Given the description of an element on the screen output the (x, y) to click on. 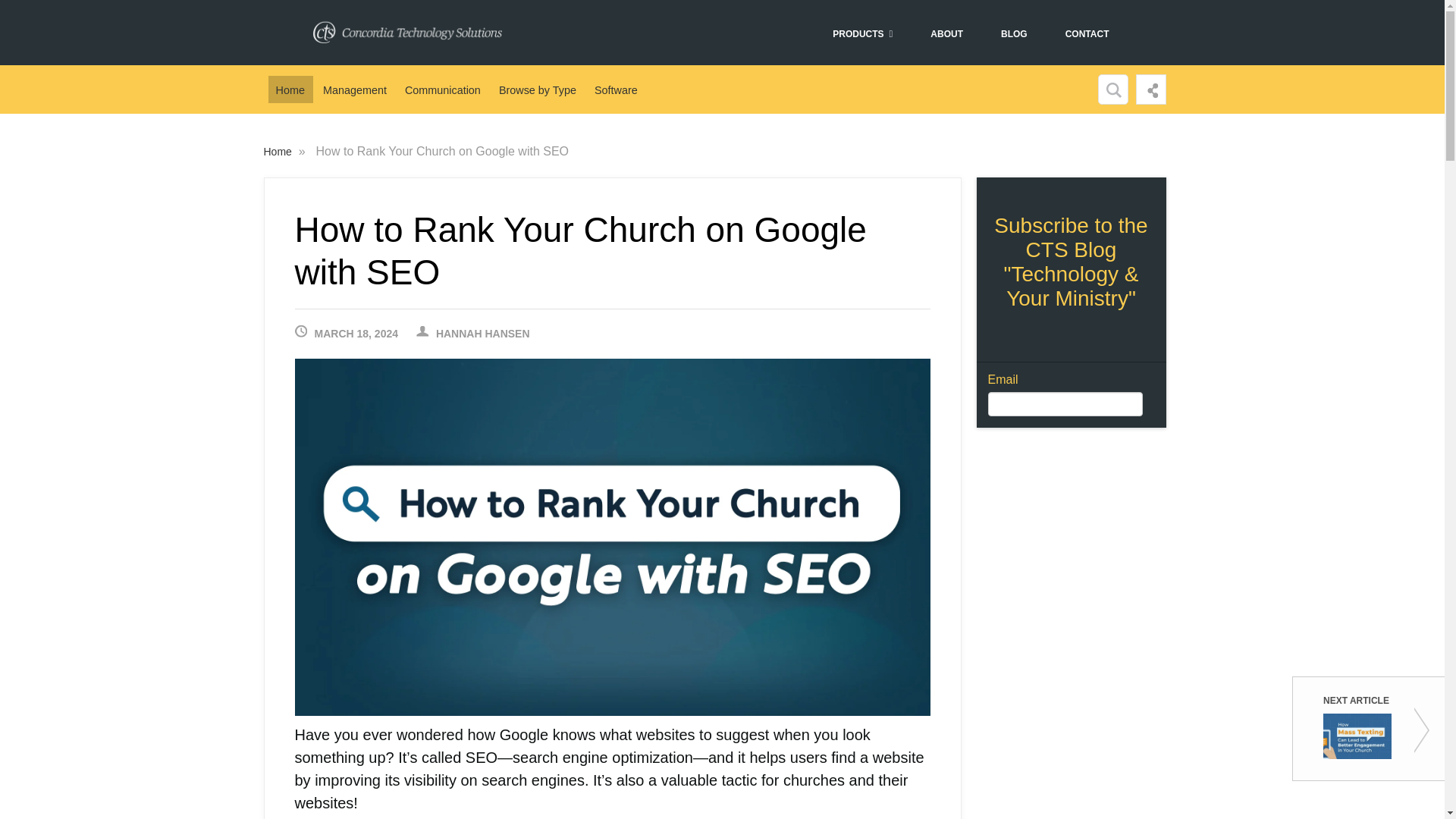
Communication (443, 89)
CONTACT (1086, 33)
Home (290, 89)
PRODUCTS (861, 33)
Management (354, 89)
Browse by Type (538, 89)
Software (616, 89)
BLOG (1013, 33)
ABOUT (946, 33)
